Given the description of an element on the screen output the (x, y) to click on. 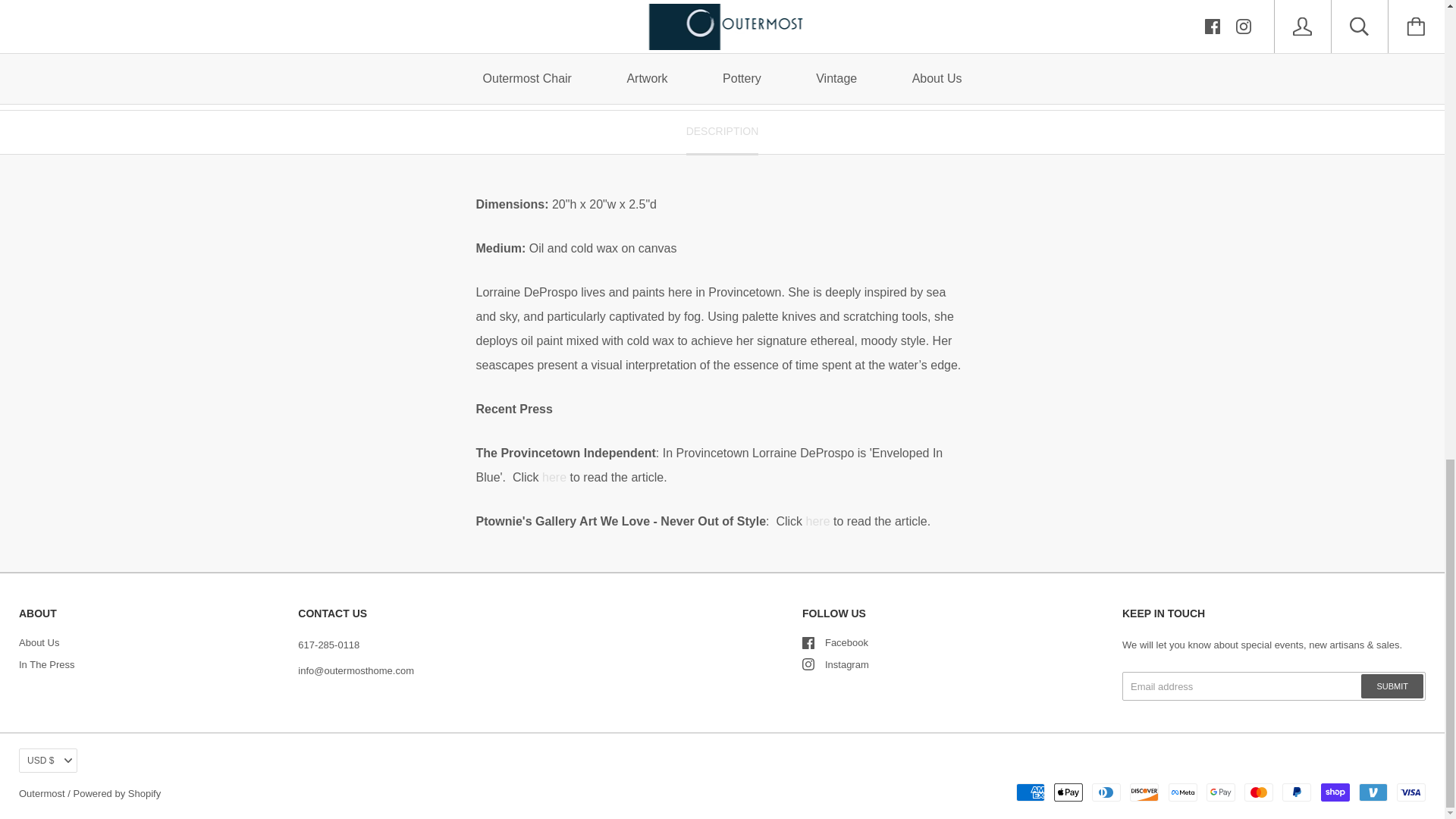
In The Press (46, 664)
Google Pay (1220, 791)
Mastercard (1258, 791)
Diners Club (1106, 791)
About Us (38, 642)
Meta Pay (1182, 791)
here (553, 477)
Facebook (807, 643)
Instagram (807, 664)
Discover (1143, 791)
